Given the description of an element on the screen output the (x, y) to click on. 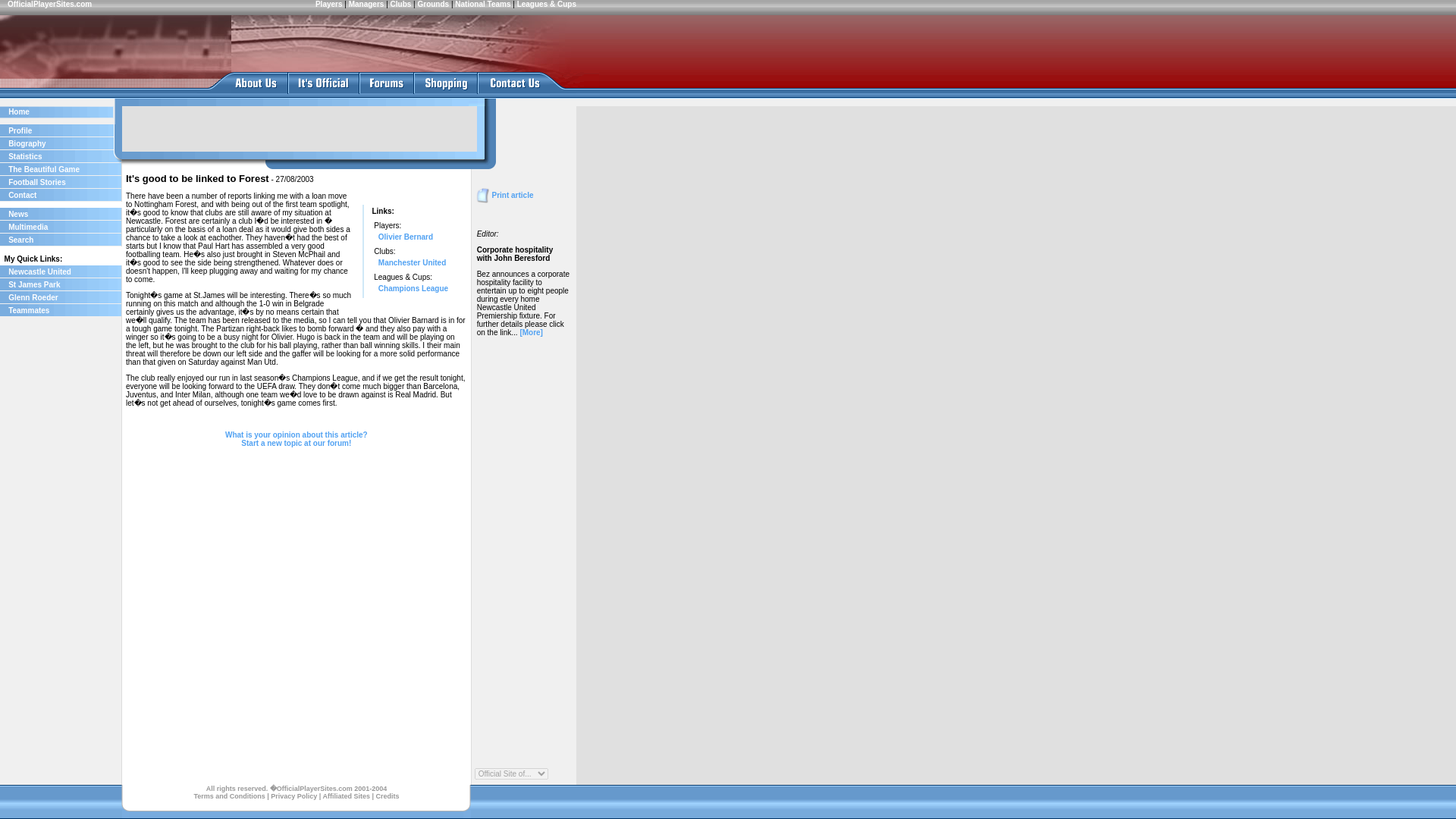
News (17, 213)
Search (20, 239)
The Beautiful Game (44, 169)
Home (18, 111)
Biography (26, 143)
Profile (20, 130)
Newcastle United (39, 271)
National Teams (482, 4)
Multimedia (28, 226)
Contact (22, 194)
